Given the description of an element on the screen output the (x, y) to click on. 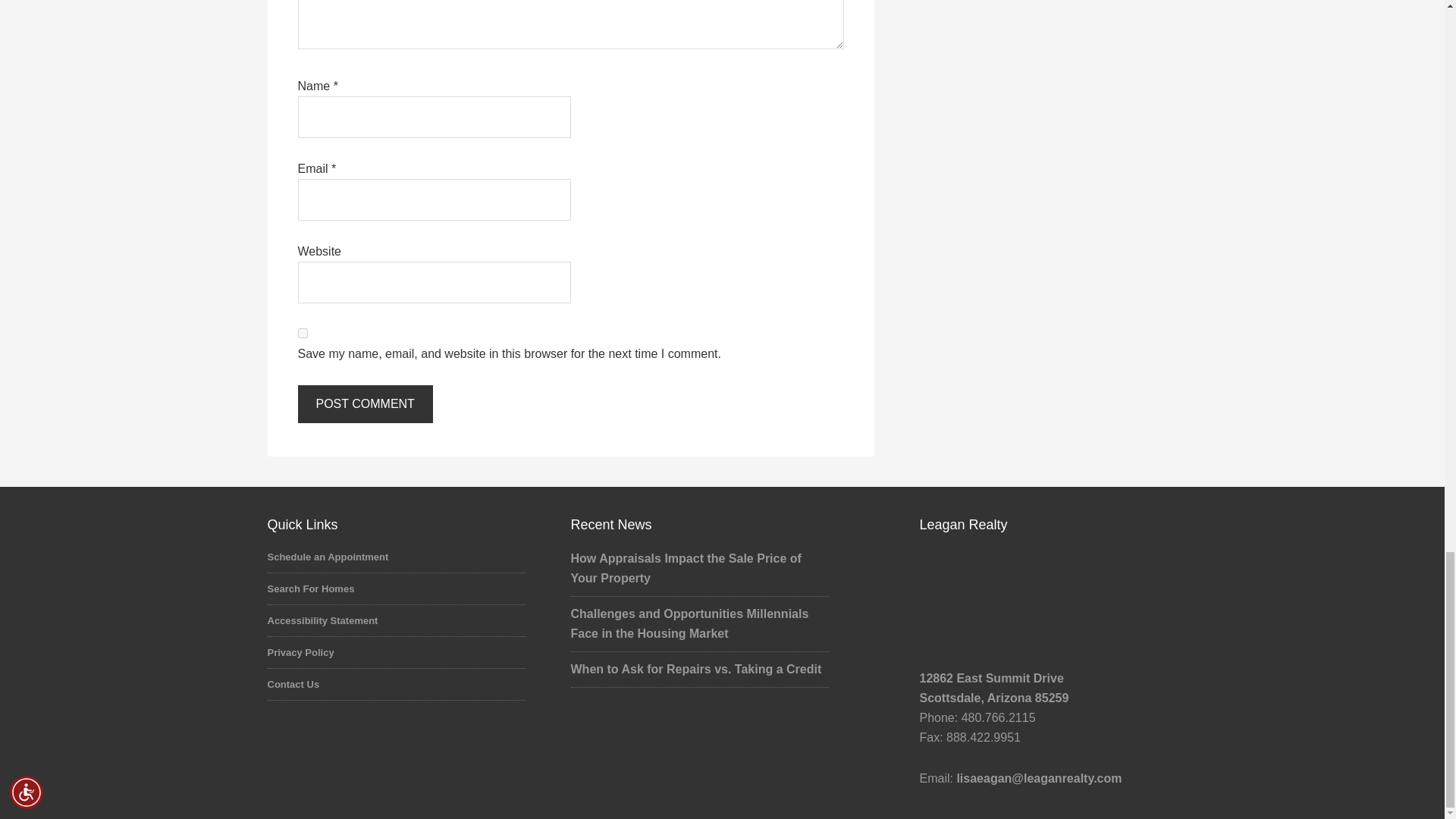
yes (302, 333)
Accessibility Statement (321, 620)
Schedule an Appointment (327, 556)
Search For Homes (309, 588)
Post Comment (364, 403)
Post Comment (364, 403)
Contact Us (292, 684)
How Appraisals Impact the Sale Price of Your Property (685, 568)
Privacy Policy (299, 652)
When to Ask for Repairs vs. Taking a Credit (695, 668)
